Given the description of an element on the screen output the (x, y) to click on. 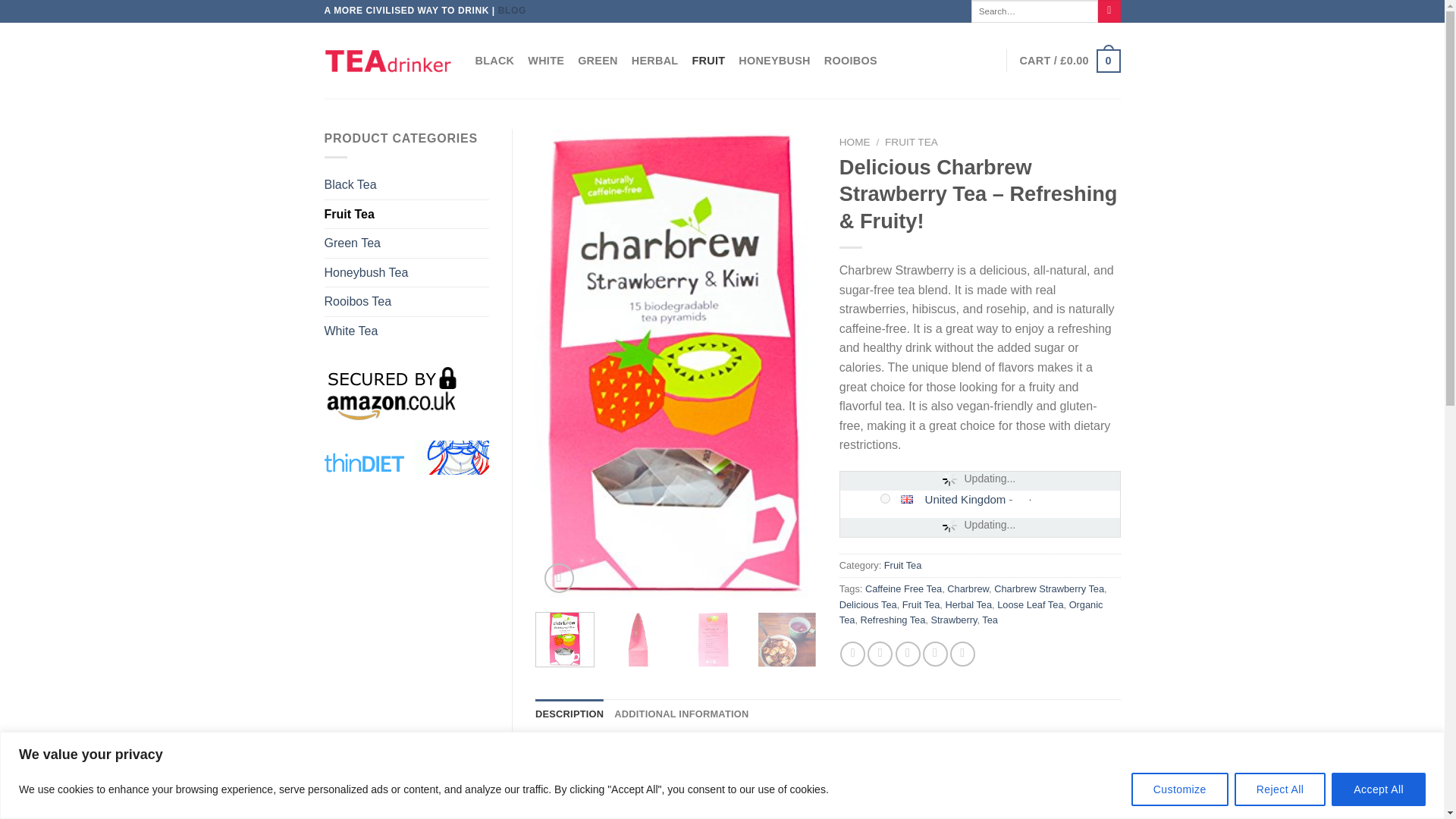
Accept All (1378, 788)
Cart (1069, 60)
White Tea (406, 330)
Green Tea (406, 243)
Rooibos Tea (406, 301)
ROOIBOS (850, 60)
Fruit Tea (406, 214)
Tea Drinker - Just another WordPress site (388, 59)
United Kingdom (912, 499)
HONEYBUSH (774, 60)
Customize (1179, 788)
BLACK (493, 60)
HERBAL (654, 60)
Black Tea (406, 184)
BLOG (511, 9)
